Given the description of an element on the screen output the (x, y) to click on. 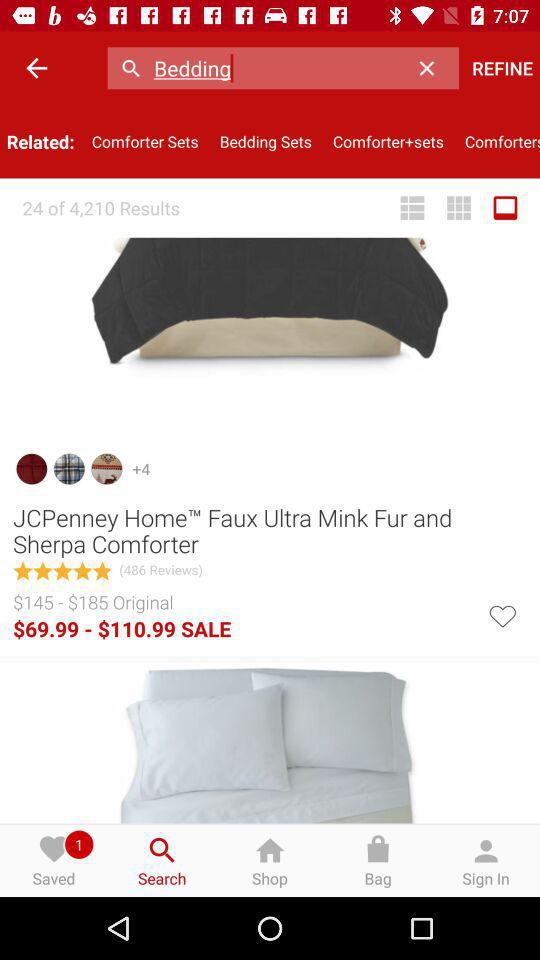
love button (501, 614)
